Given the description of an element on the screen output the (x, y) to click on. 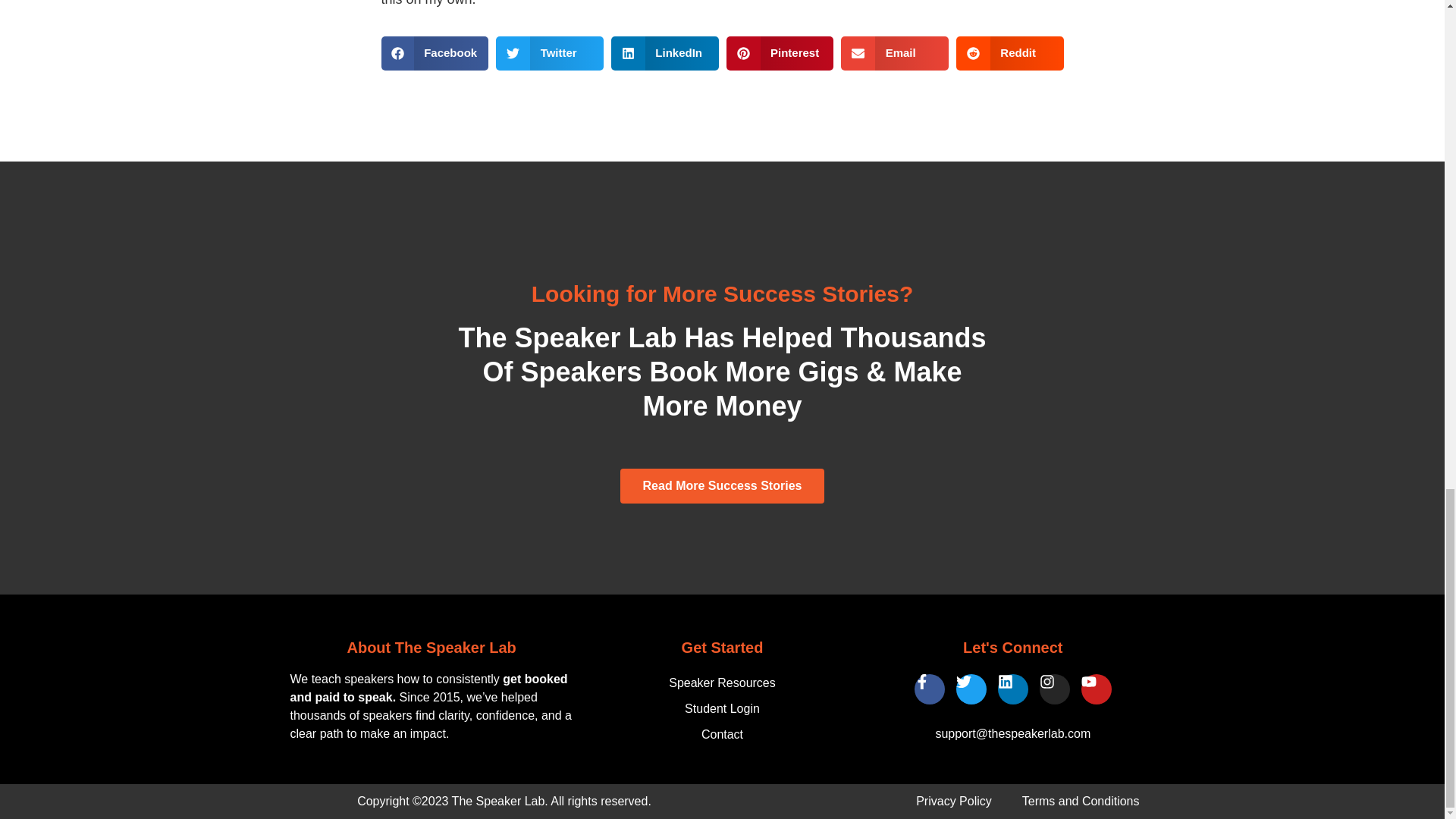
Speaker Resources (721, 683)
Read More Success Stories (722, 485)
Contact (721, 734)
Student Login (721, 708)
